Given the description of an element on the screen output the (x, y) to click on. 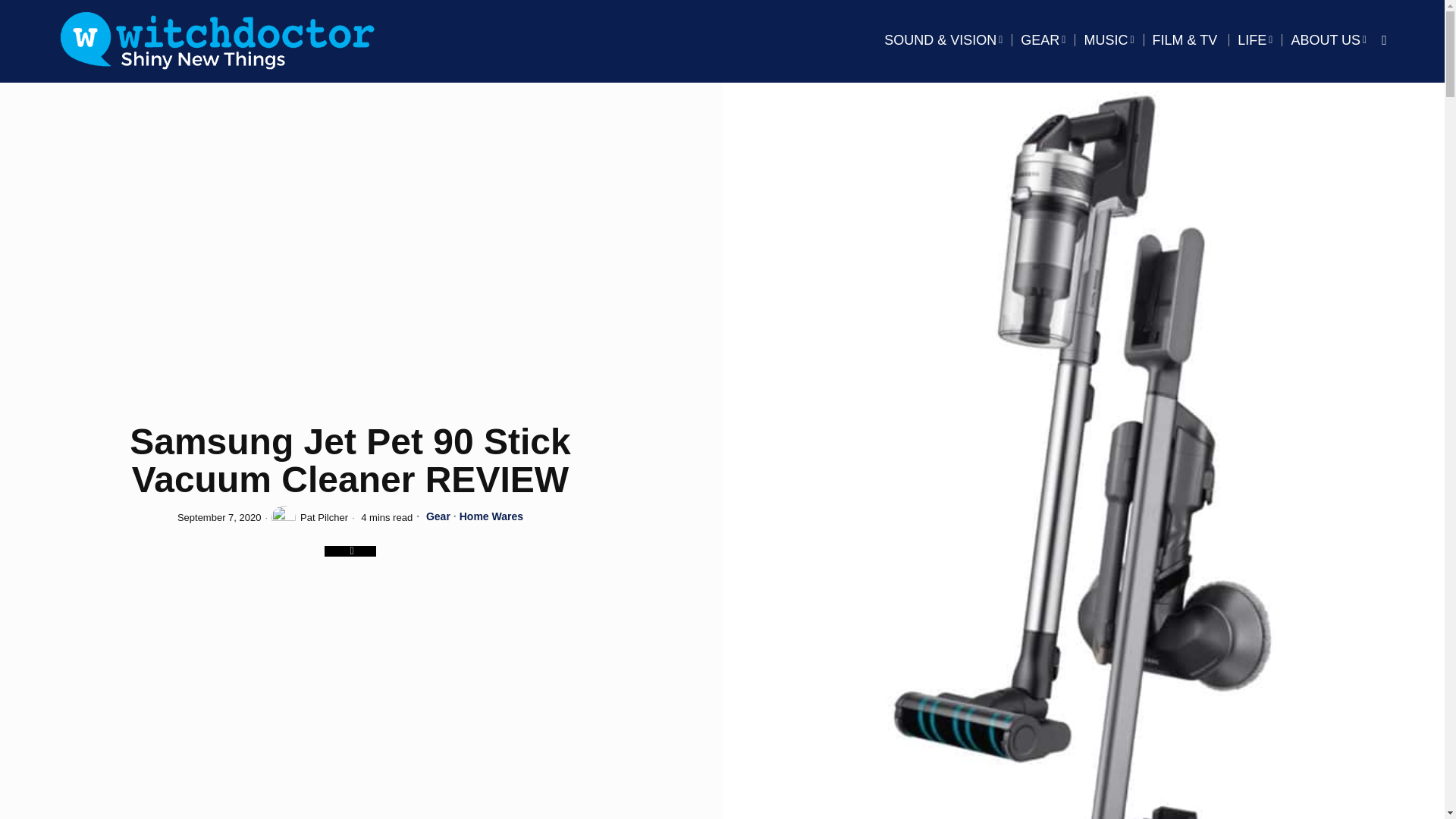
GEAR (1042, 39)
07 Sep, 2020 13:38:59 (219, 517)
Gear (437, 517)
Home Wares (491, 517)
LIFE (1254, 39)
MUSIC (1108, 39)
Pat Pilcher (308, 517)
ABOUT US (1328, 39)
